Given the description of an element on the screen output the (x, y) to click on. 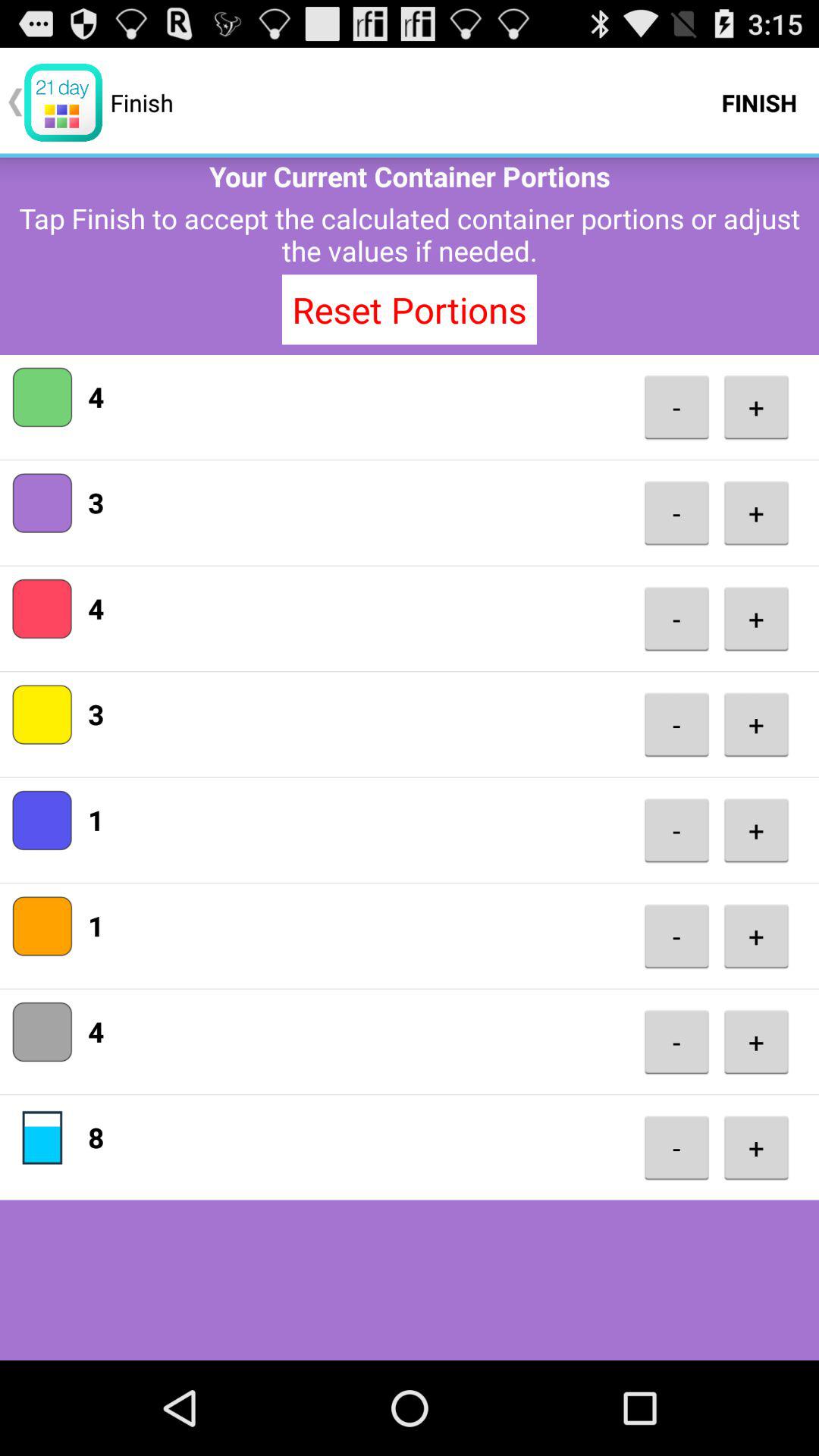
swipe until - icon (676, 512)
